Given the description of an element on the screen output the (x, y) to click on. 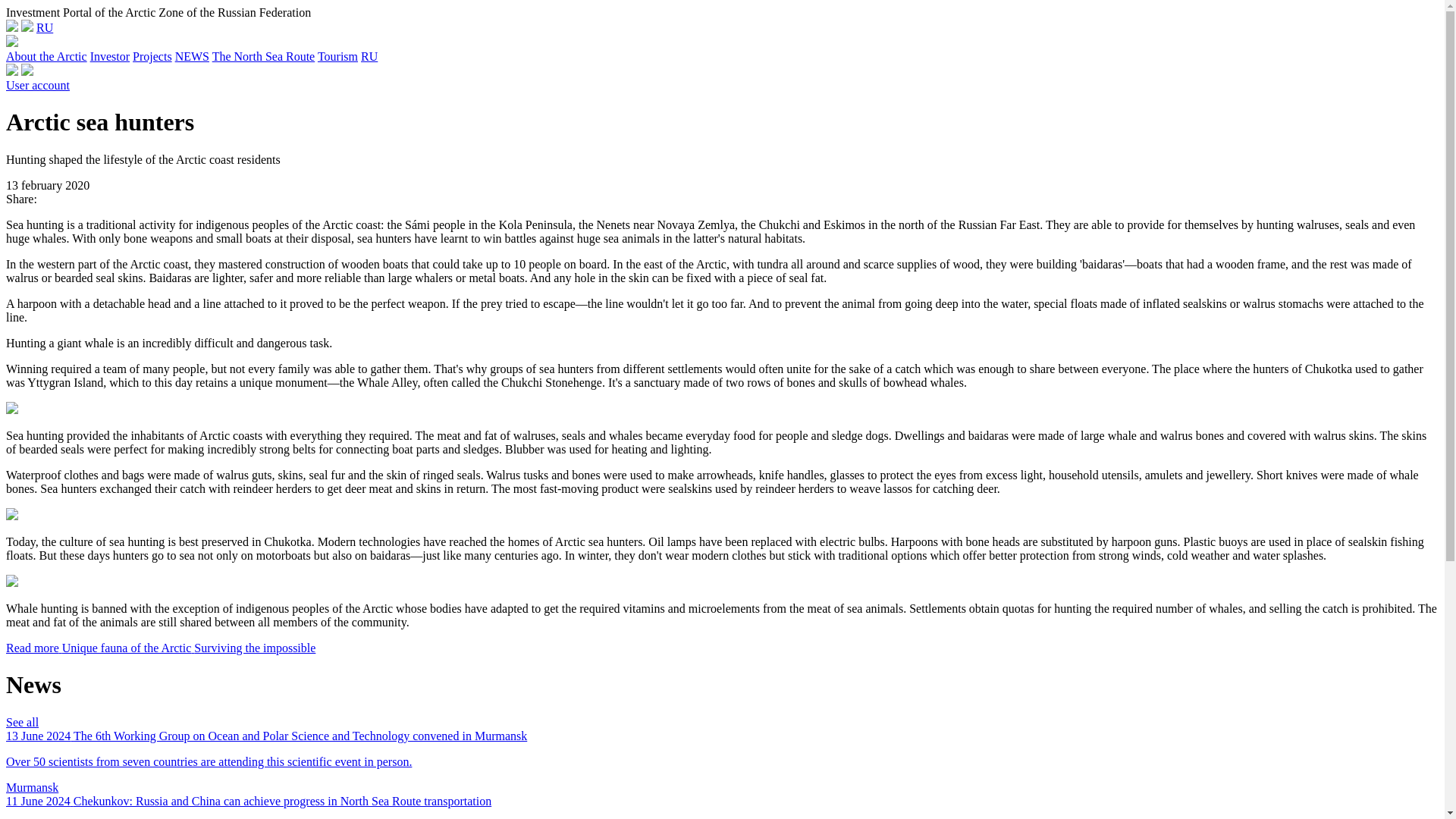
Tourism (337, 56)
RU (369, 56)
See all (22, 721)
Investor (109, 56)
About the Arctic (46, 56)
Projects (151, 56)
RU (44, 27)
User account (37, 84)
NEWS (191, 56)
The North Sea Route (263, 56)
